Given the description of an element on the screen output the (x, y) to click on. 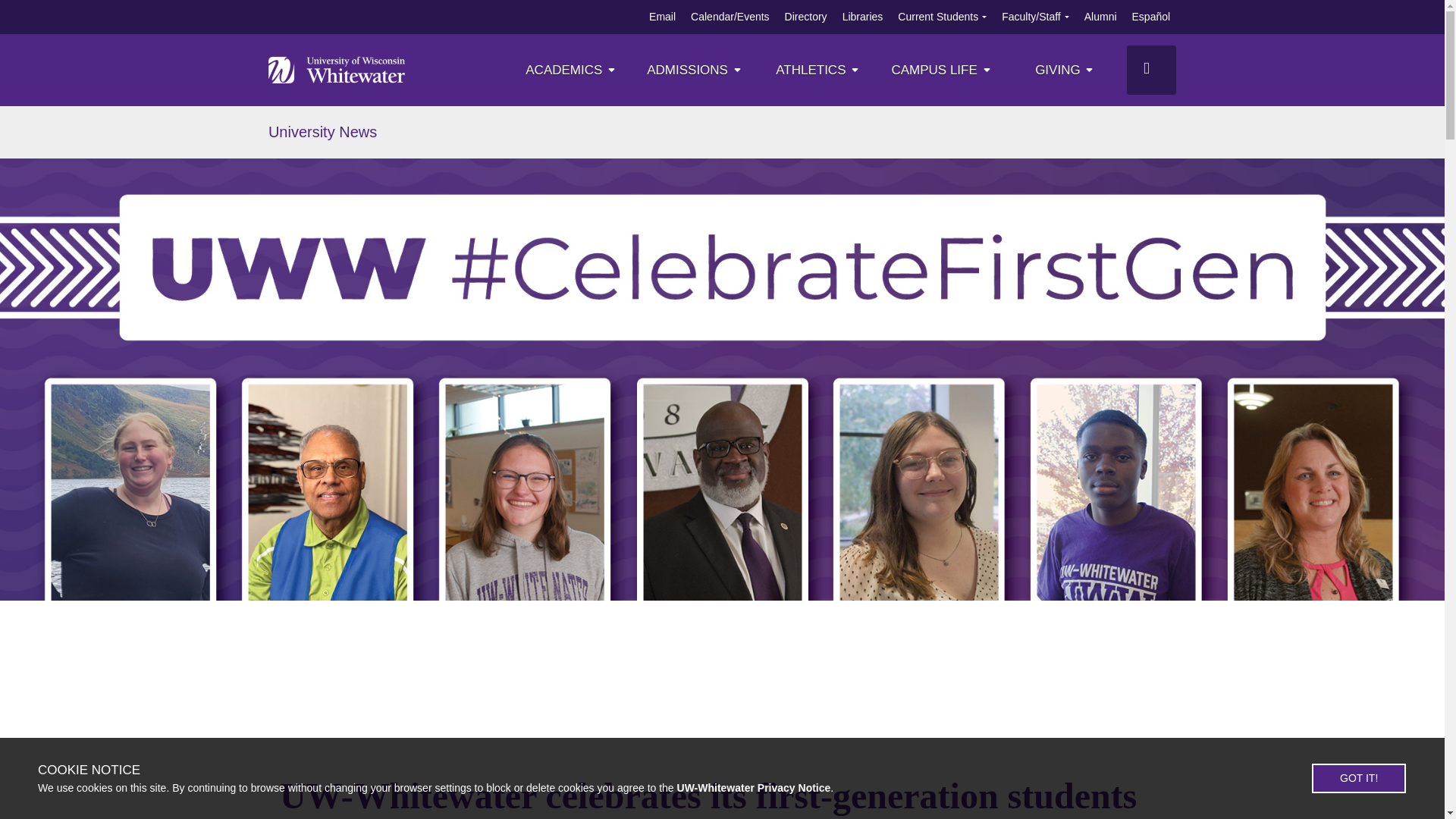
Email (662, 16)
Alumni (1100, 16)
Current Students (938, 16)
Directory (805, 16)
Libraries (863, 16)
ACADEMICS (571, 70)
